Given the description of an element on the screen output the (x, y) to click on. 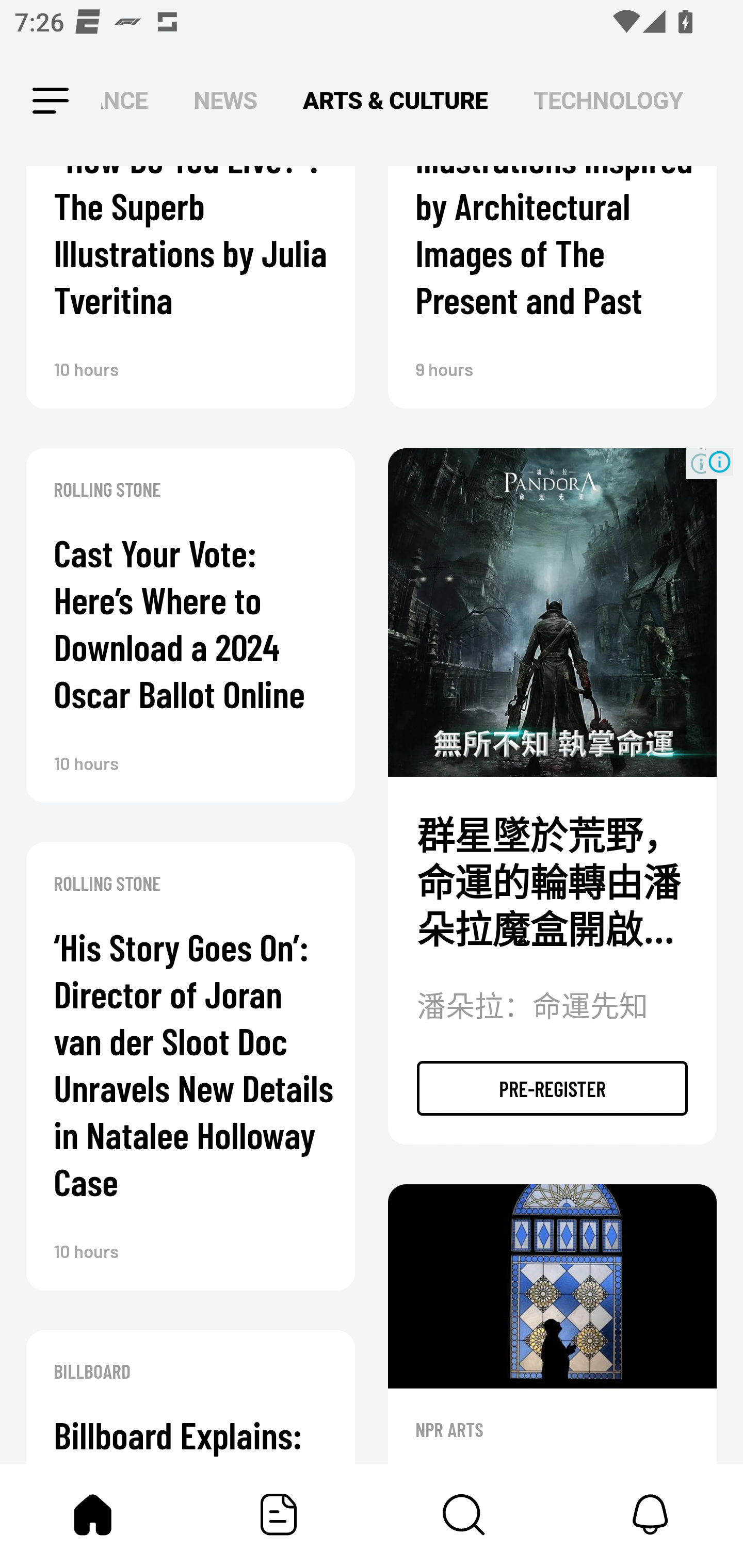
BUSINESS & FINANCE (124, 100)
NEWS (225, 100)
TECHNOLOGY (607, 100)
Ad Choices Icon (719, 461)
Featured (278, 1514)
Content Store (464, 1514)
Notifications (650, 1514)
